Given the description of an element on the screen output the (x, y) to click on. 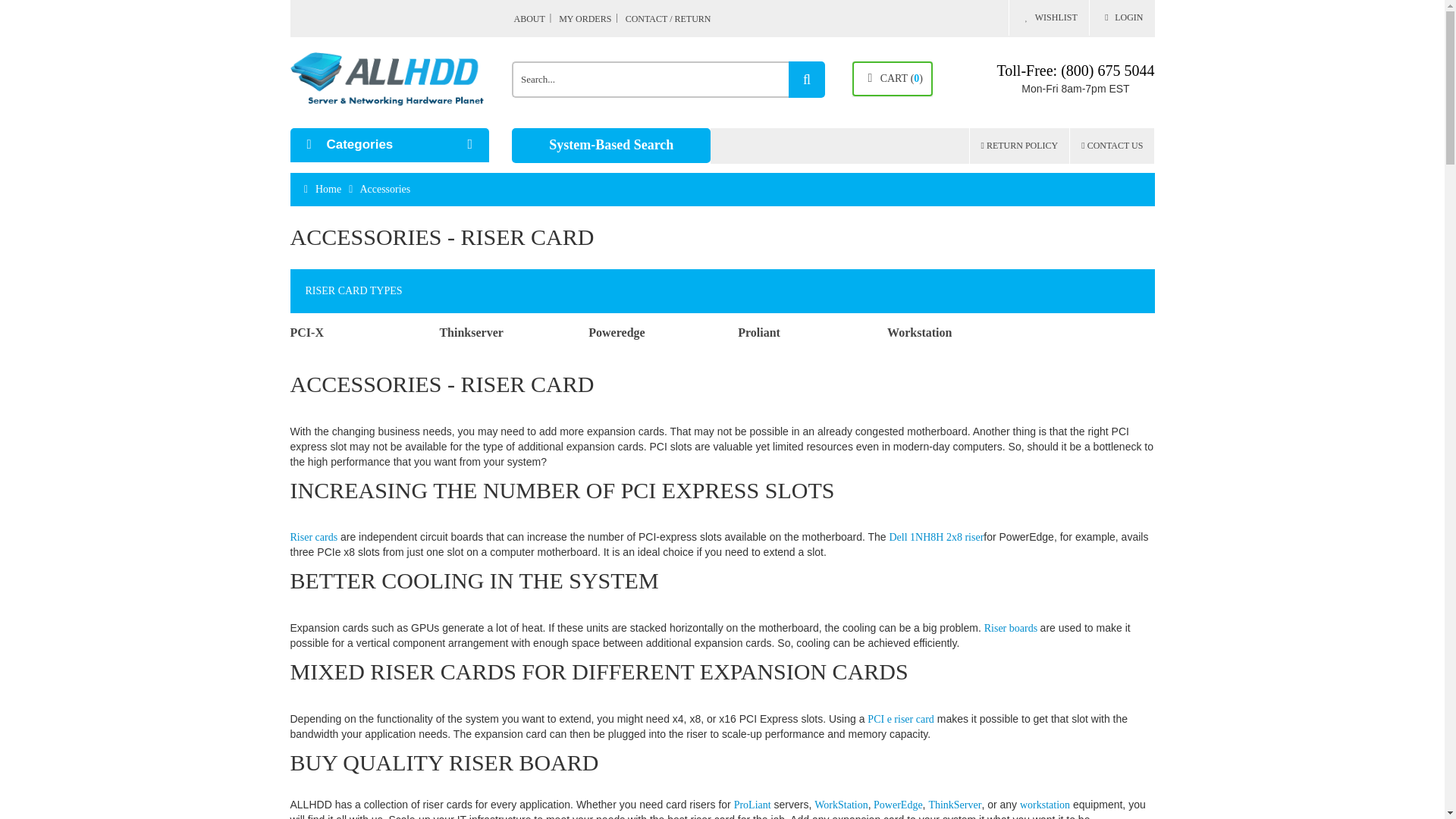
ABOUT (534, 18)
WISHLIST (1048, 18)
LOGIN (1121, 18)
MY ORDERS (591, 18)
